Given the description of an element on the screen output the (x, y) to click on. 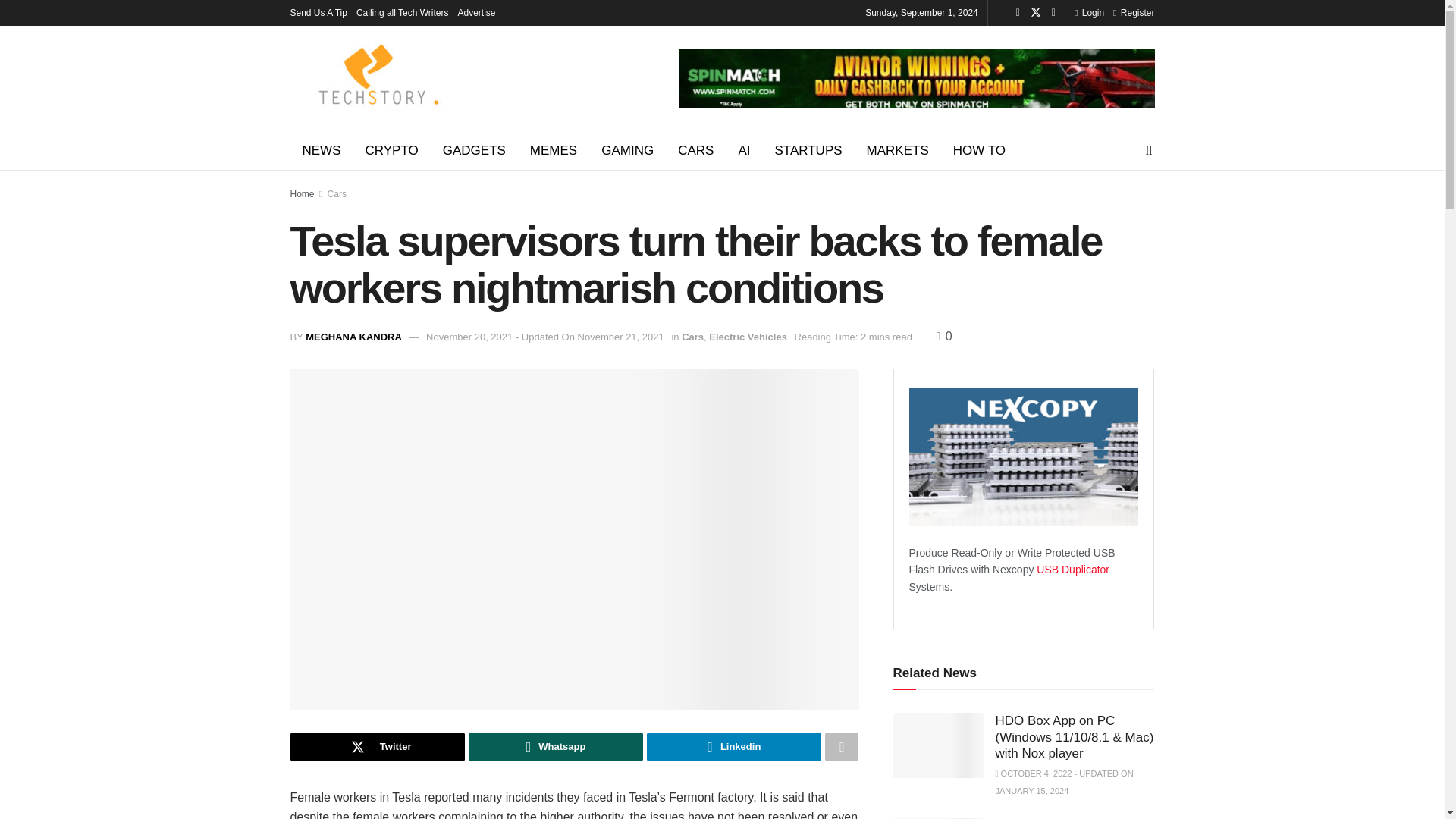
GAMING (627, 150)
CARS (695, 150)
Login (1088, 12)
MEMES (553, 150)
NEWS (320, 150)
Advertise (477, 12)
CRYPTO (391, 150)
HOW TO (978, 150)
AI (743, 150)
MARKETS (897, 150)
